Given the description of an element on the screen output the (x, y) to click on. 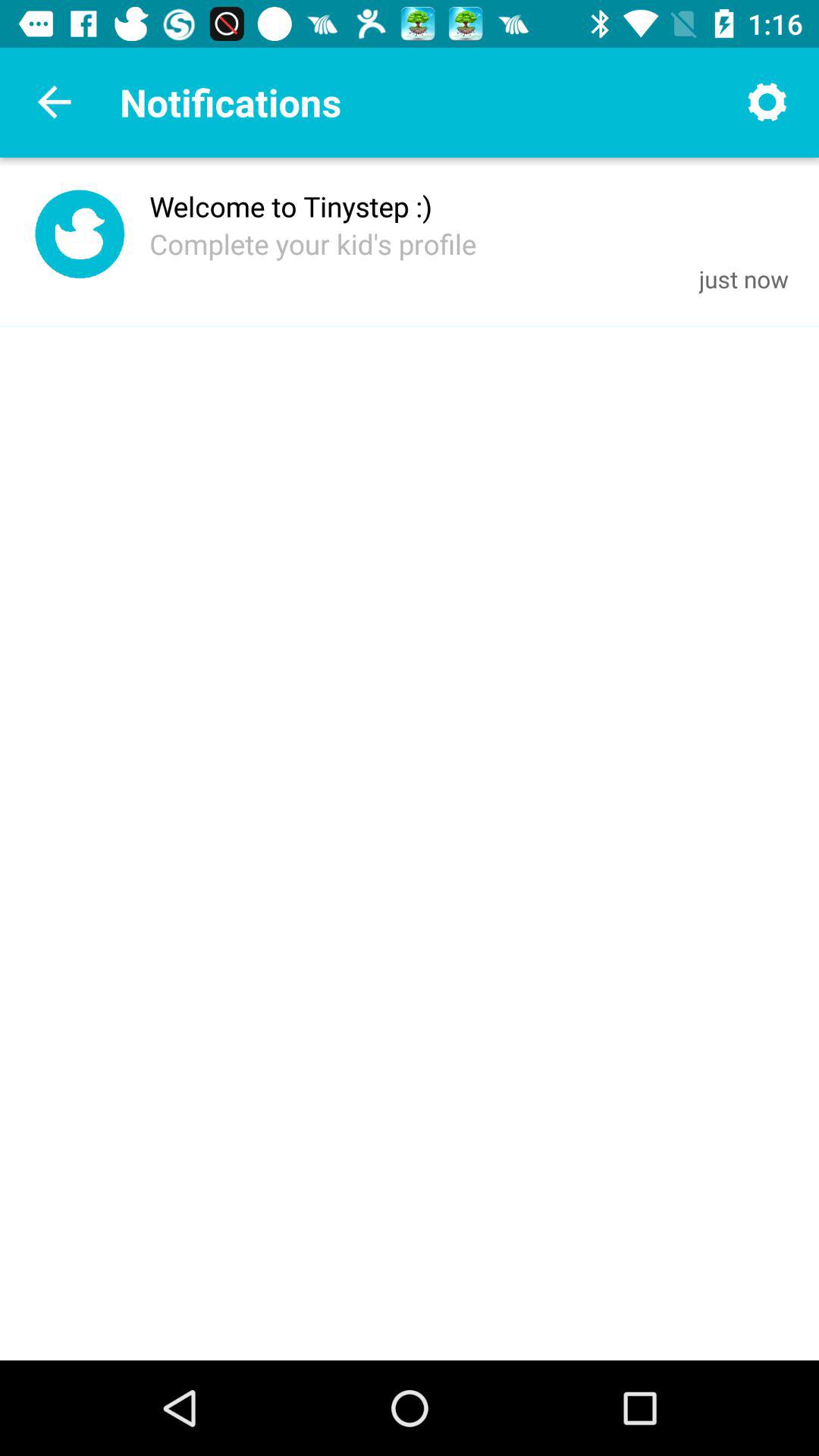
jump until the complete your kid icon (312, 243)
